Given the description of an element on the screen output the (x, y) to click on. 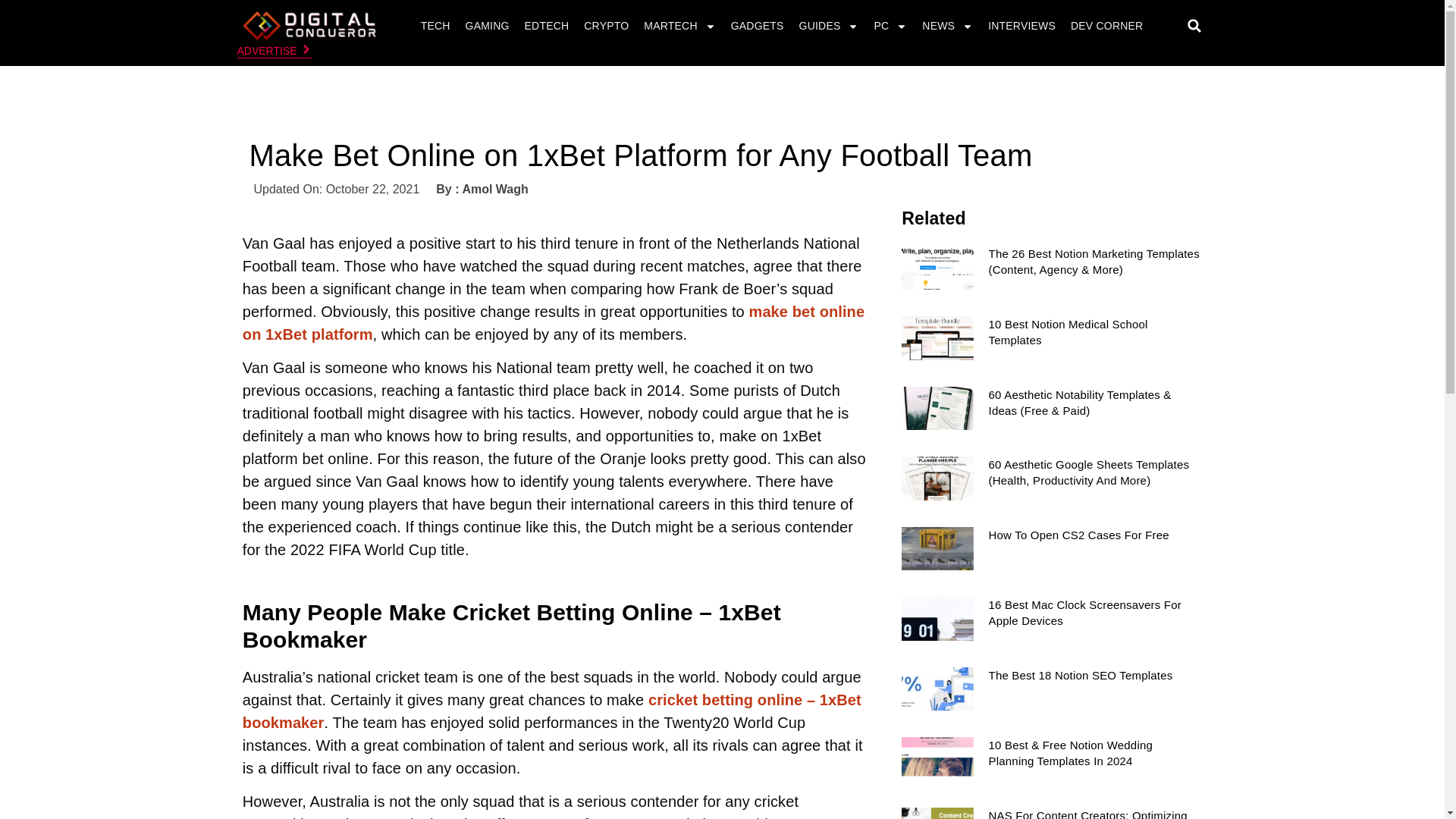
NEWS (947, 26)
GADGETS (756, 26)
DEV CORNER (1107, 26)
GAMING (487, 26)
CRYPTO (605, 26)
TECH (435, 26)
INTERVIEWS (1021, 26)
PC (890, 26)
EDTECH (547, 26)
MARTECH (679, 26)
GUIDES (829, 26)
